Given the description of an element on the screen output the (x, y) to click on. 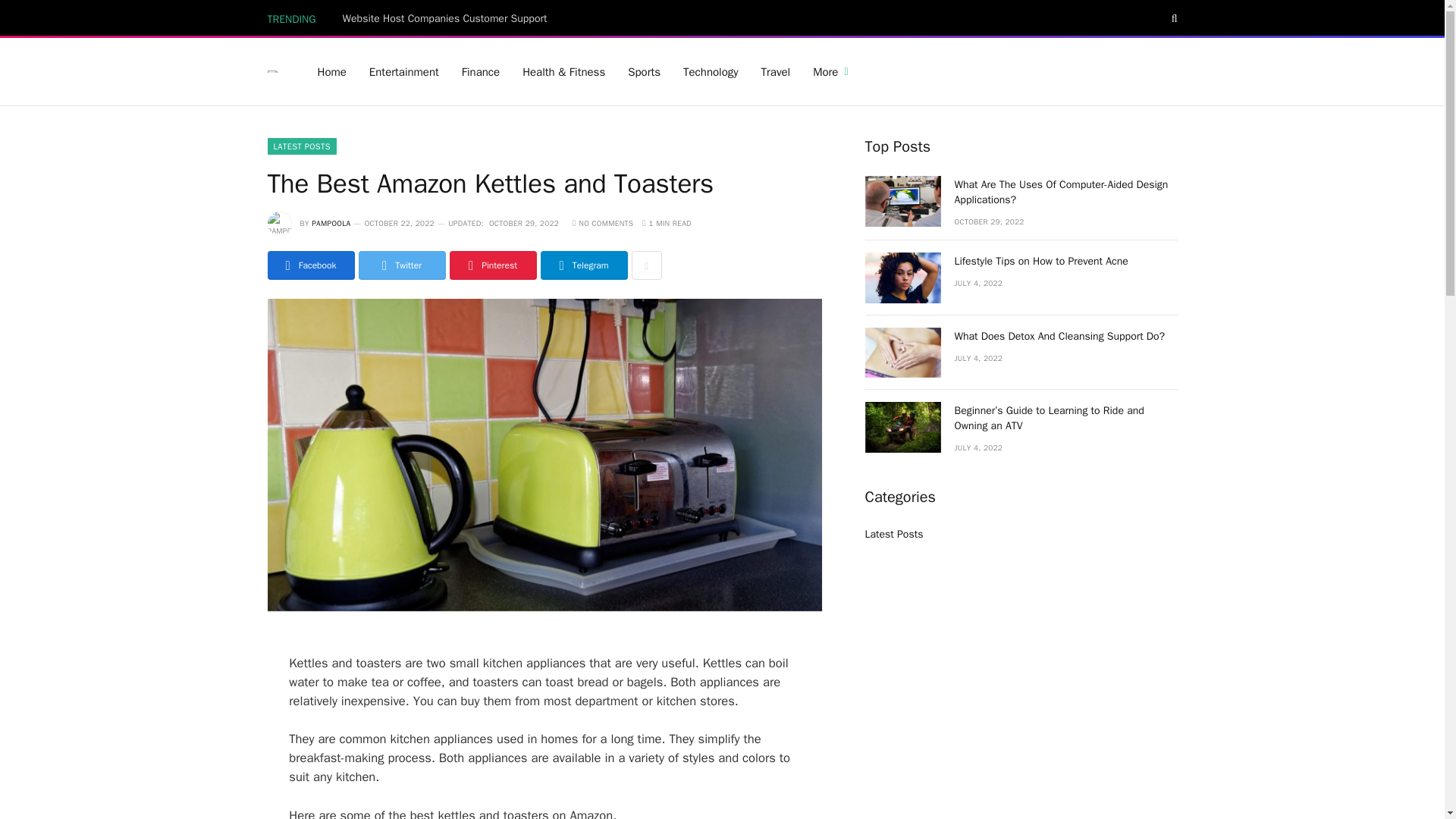
Technology (710, 71)
PAMPOOLA (330, 223)
Entertainment (403, 71)
LATEST POSTS (301, 146)
Share on Facebook (309, 265)
Share on Telegram (583, 265)
Website Host Companies Customer Support (448, 18)
Posts by pampoola (330, 223)
Twitter (401, 265)
Facebook (309, 265)
Pinterest (491, 265)
Telegram (583, 265)
Finance (480, 71)
Share on Pinterest (491, 265)
NO COMMENTS (602, 223)
